Given the description of an element on the screen output the (x, y) to click on. 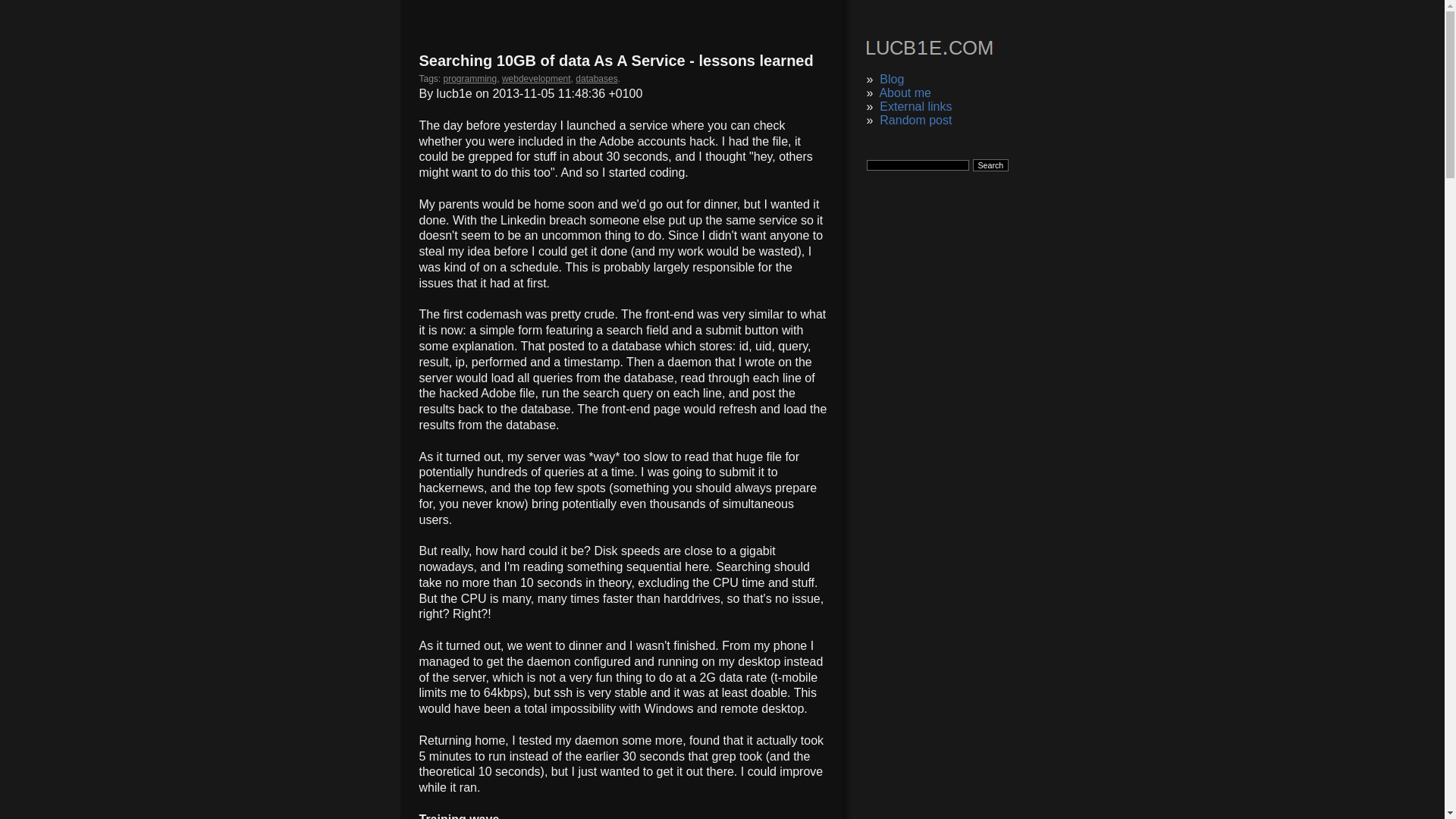
External links (915, 106)
Search (990, 164)
All posts tagged with webdevelopment (536, 78)
lucb1e.com (928, 50)
Blog (891, 78)
About me (904, 92)
webdevelopment (536, 78)
All posts tagged with databases (596, 78)
programming (470, 78)
Random post (915, 119)
Search (990, 164)
databases (596, 78)
Search (990, 164)
All posts tagged with programming (470, 78)
